Given the description of an element on the screen output the (x, y) to click on. 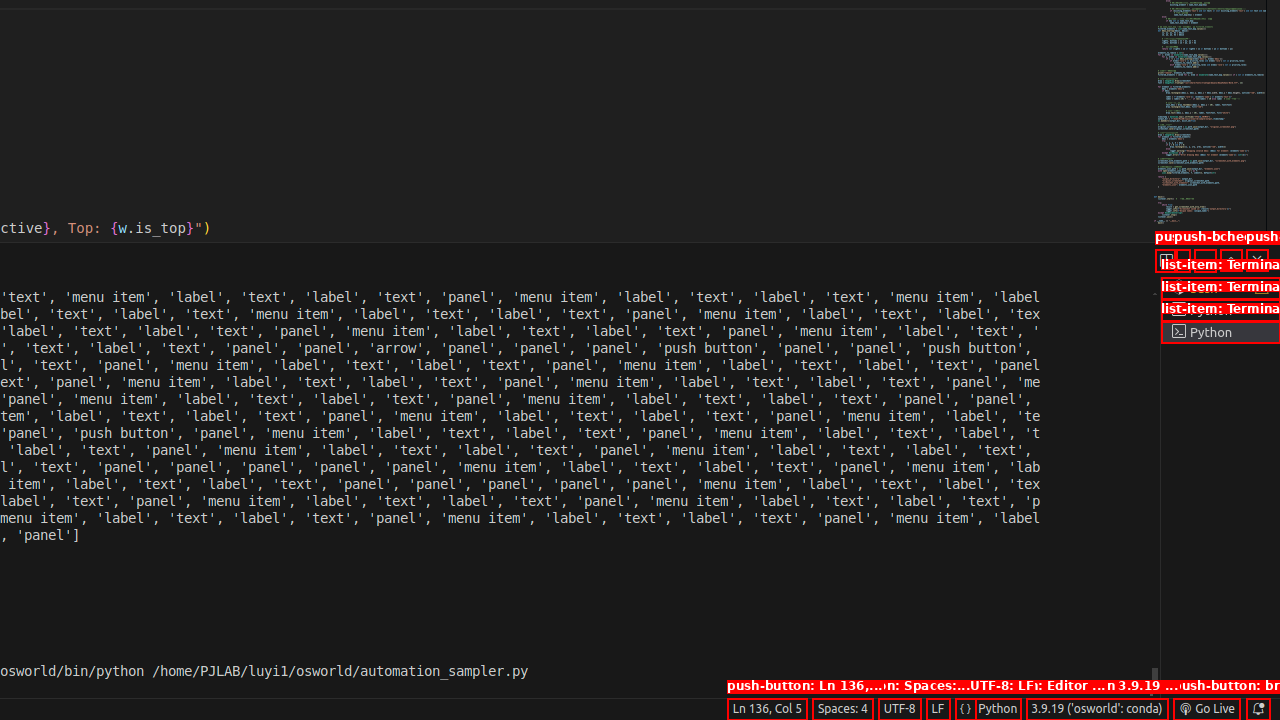
Terminal 5 Python Element type: list-item (1220, 332)
Launch Profile... Element type: push-button (1182, 260)
Views and More Actions... Element type: push-button (1205, 260)
Hide Panel Element type: push-button (1257, 260)
Notifications Element type: push-button (1258, 709)
